Given the description of an element on the screen output the (x, y) to click on. 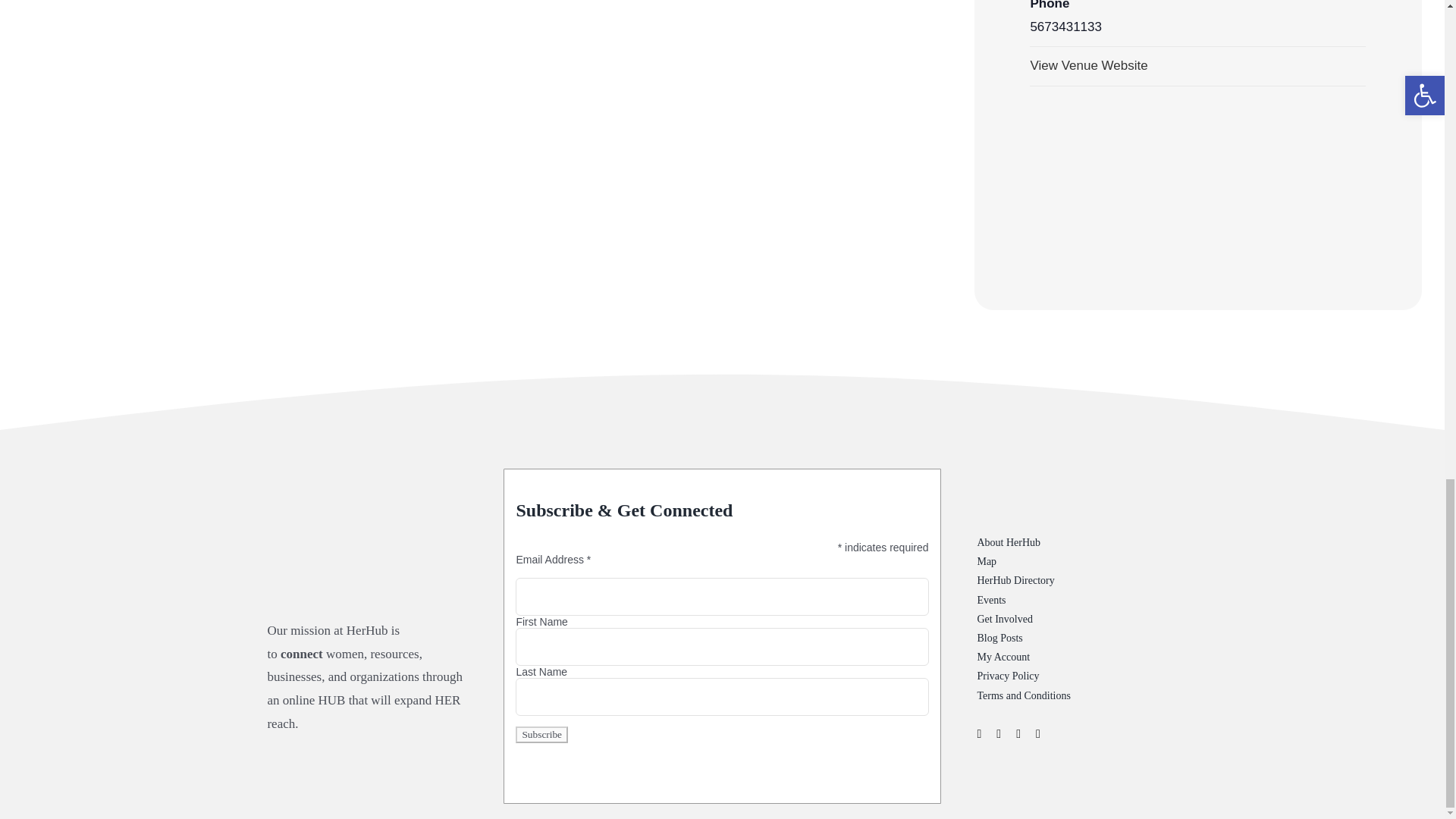
Subscribe (541, 734)
